Given the description of an element on the screen output the (x, y) to click on. 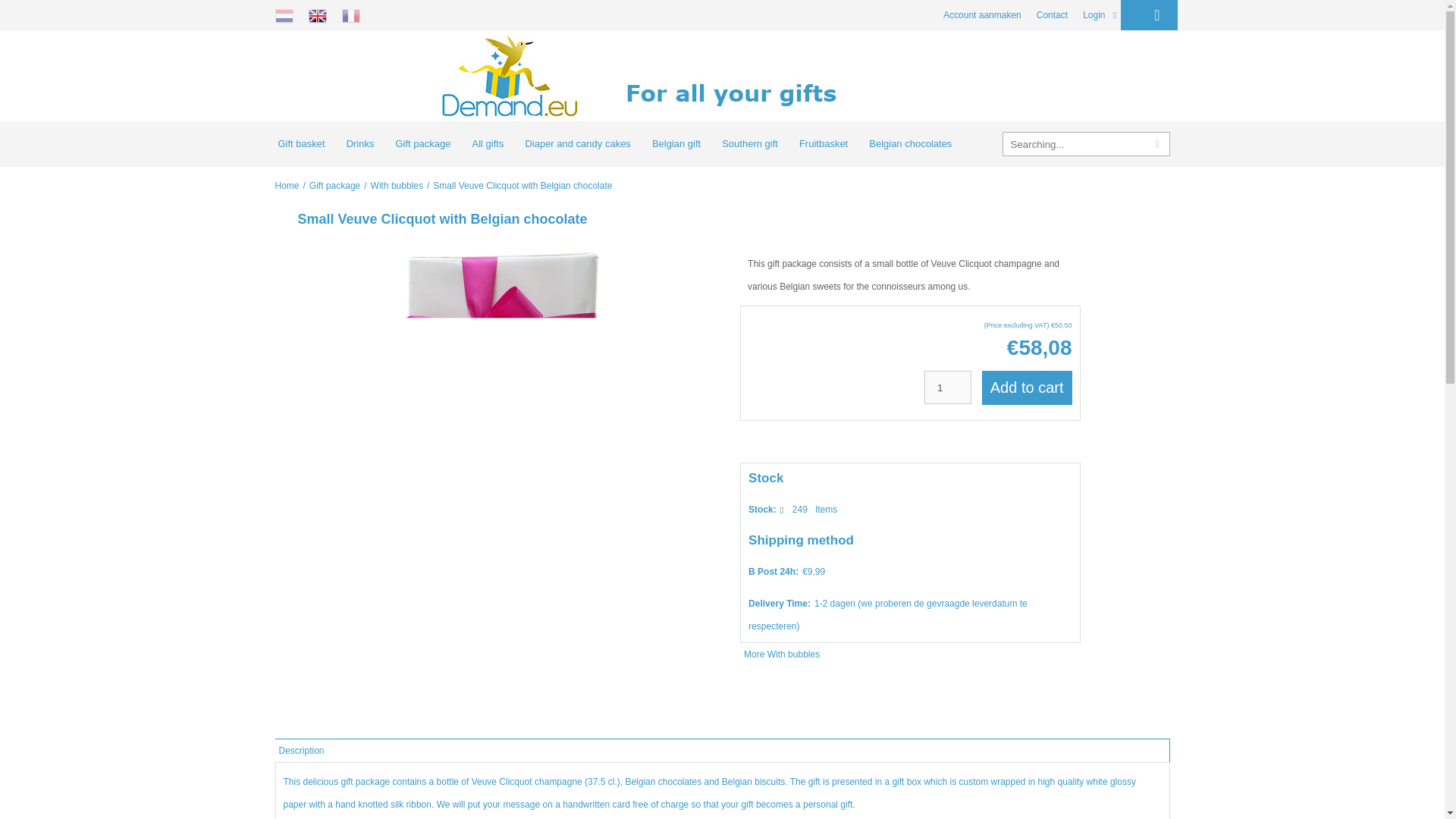
Gift basket (300, 144)
Drinks (360, 144)
Gift package (422, 144)
Nederlands (283, 14)
English (316, 14)
1 (947, 387)
